Given the description of an element on the screen output the (x, y) to click on. 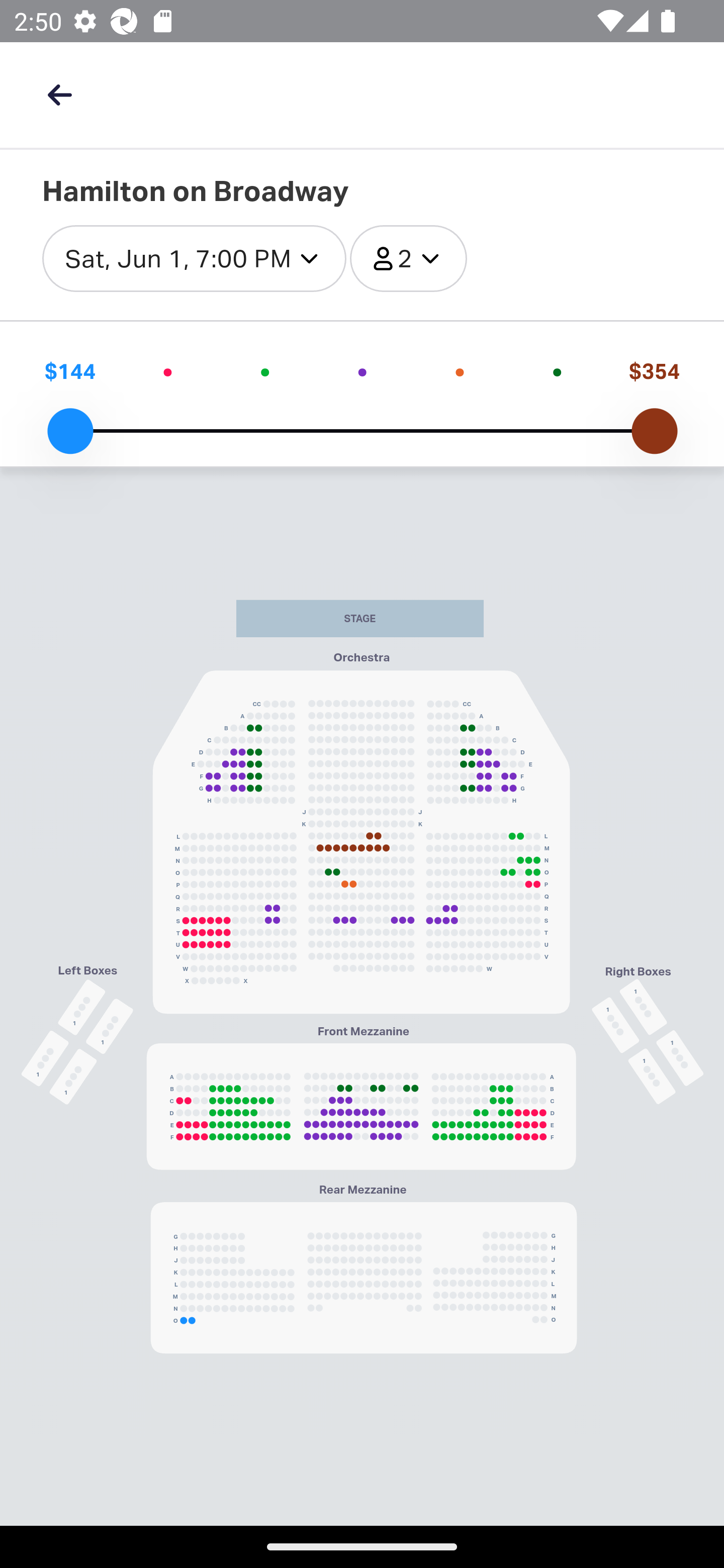
back button (59, 94)
Sat, Jun 1, 7:00 PM (193, 259)
2 (408, 259)
$144 (69, 370)
• (167, 370)
• (264, 370)
• (362, 370)
• (459, 370)
• (556, 370)
$354 (653, 370)
0.0 (69, 431)
100.0 (654, 431)
1 (81, 1007)
1 (643, 1007)
1 (615, 1024)
1 (108, 1026)
1 (45, 1057)
1 (679, 1057)
A B C D E F A B C D E F (361, 1105)
1 (651, 1075)
1 (73, 1075)
G H J K L M N O G H J K L M N O (363, 1277)
